Given the description of an element on the screen output the (x, y) to click on. 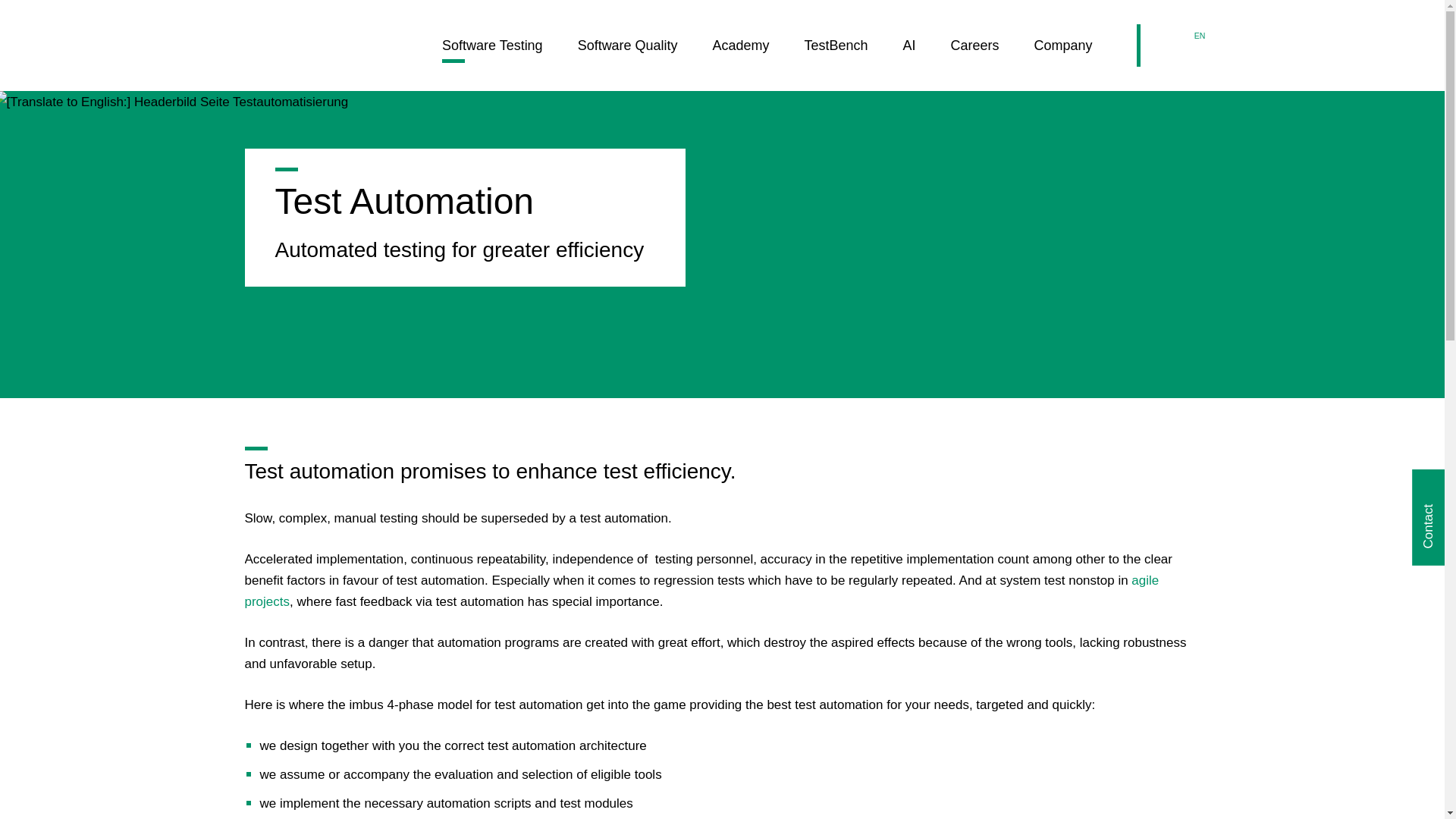
Software Testing (492, 49)
Software Testing (492, 49)
Software Quality (627, 49)
Software Quality Consulting (627, 49)
imbus AG (173, 45)
